Given the description of an element on the screen output the (x, y) to click on. 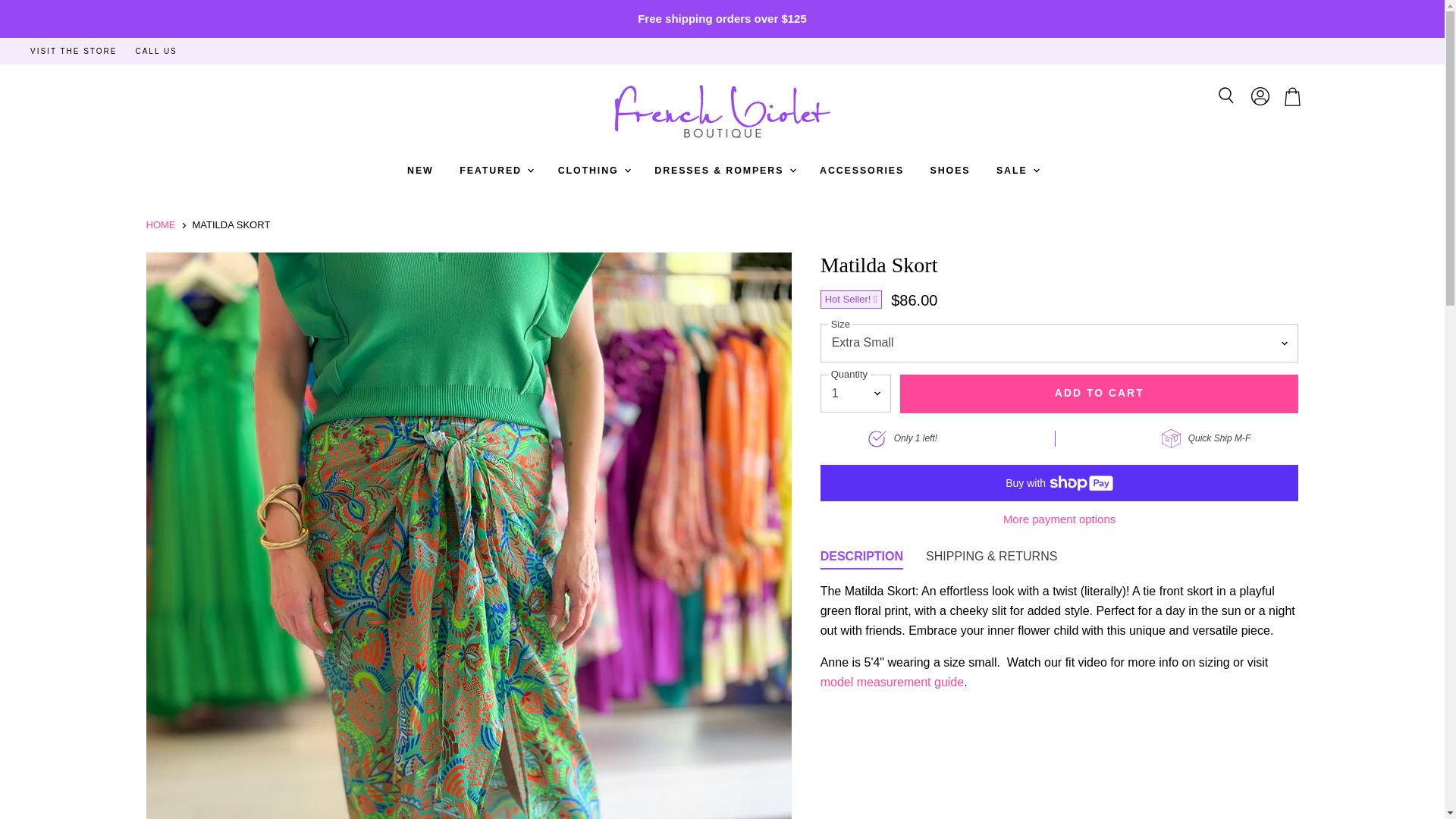
NEW (420, 170)
VISIT THE STORE (73, 51)
FEATURED (495, 170)
CALL US (155, 51)
CLOTHING (593, 170)
